Given the description of an element on the screen output the (x, y) to click on. 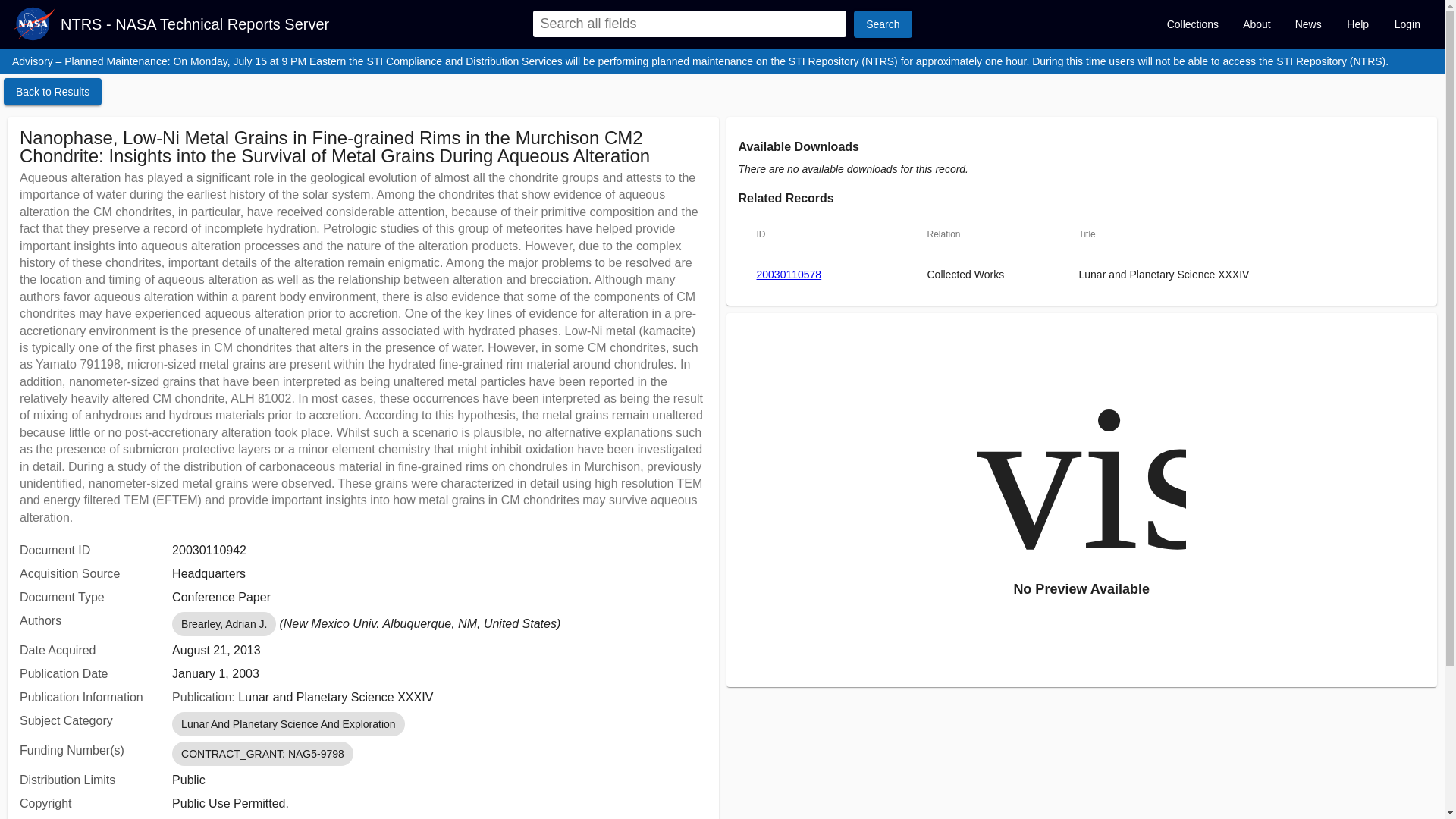
Back to Results (52, 91)
Help (1357, 23)
Search (882, 23)
News (1307, 23)
About (1256, 23)
Collections (1192, 23)
Login (1406, 23)
20030110578 (789, 273)
